Given the description of an element on the screen output the (x, y) to click on. 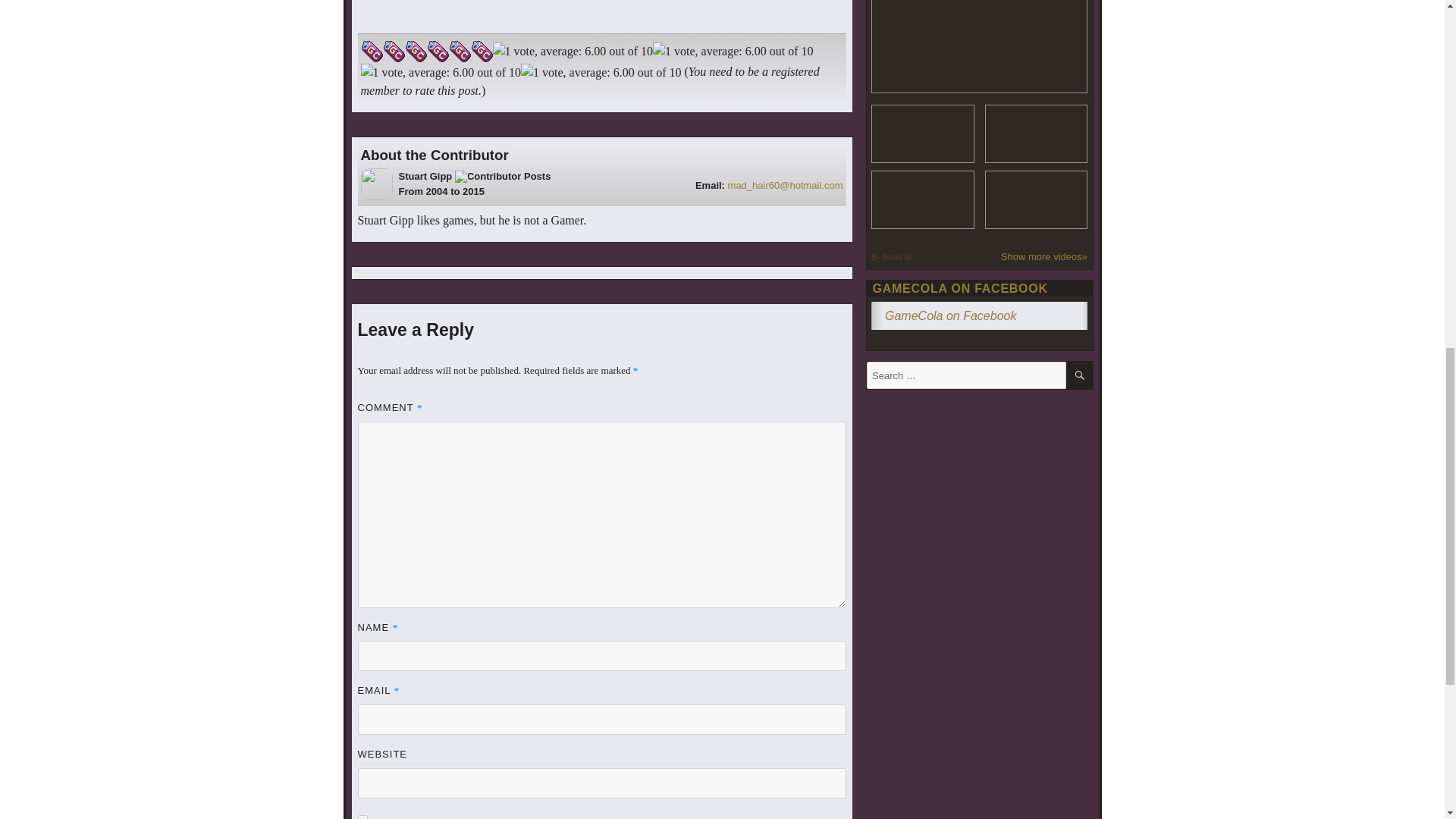
1 vote, average: 6.00 out of 10 (415, 51)
1 vote, average: 6.00 out of 10 (371, 51)
1 vote, average: 6.00 out of 10 (392, 51)
1 vote, average: 6.00 out of 10 (437, 51)
yes (363, 816)
